Given the description of an element on the screen output the (x, y) to click on. 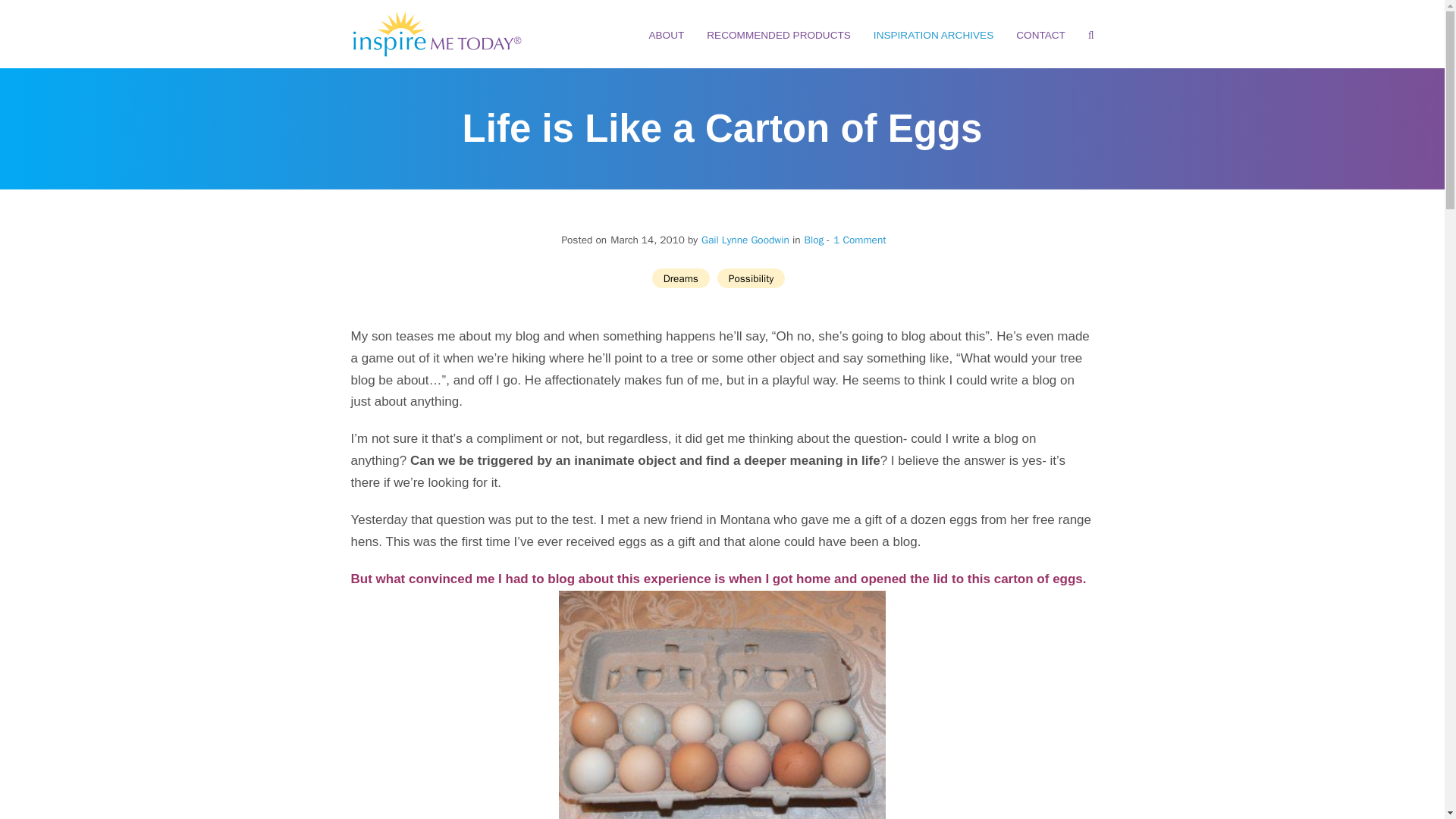
CONTACT (1040, 35)
Dreams (681, 278)
1 Comment (858, 239)
P1050831 (722, 704)
ABOUT (666, 35)
Blog (813, 239)
INSPIRATION ARCHIVES (932, 35)
RECOMMENDED PRODUCTS (778, 35)
Posts by Gail Lynne Goodwin (745, 239)
Gail Lynne Goodwin (745, 239)
1 Comment (856, 239)
Possibility (750, 278)
